Given the description of an element on the screen output the (x, y) to click on. 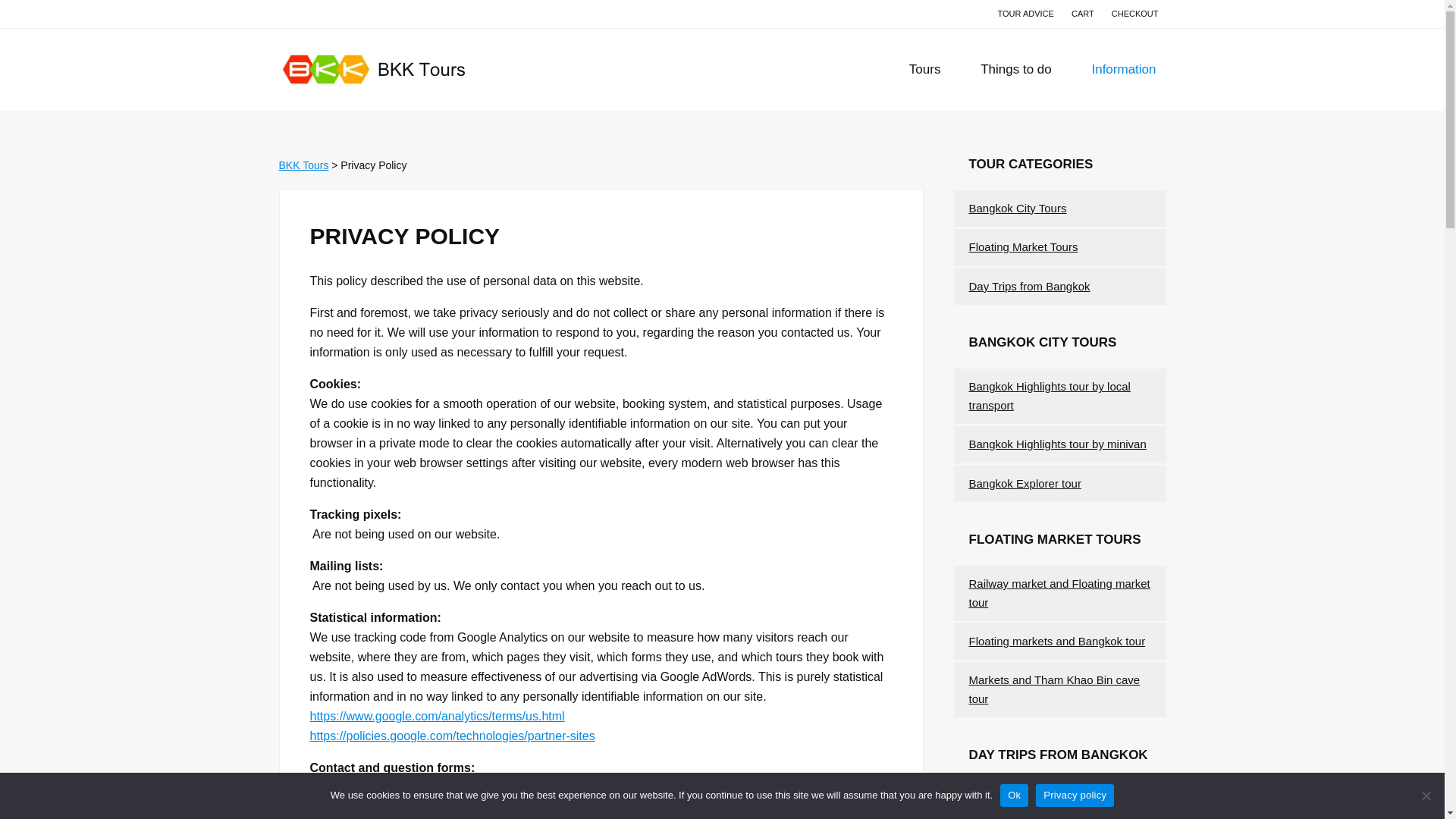
CART (1083, 13)
Bangkok City Tours (1018, 207)
Floating Market Tours (1023, 246)
CHECKOUT (1134, 13)
BKK Tours homepage (304, 164)
Information (1123, 69)
Things to do (1016, 69)
BANGKOK TOURS (415, 68)
Day Trips from Bangkok (1029, 286)
TOUR ADVICE (1025, 13)
No (1425, 795)
BKK Tours (304, 164)
Tours (925, 69)
